Given the description of an element on the screen output the (x, y) to click on. 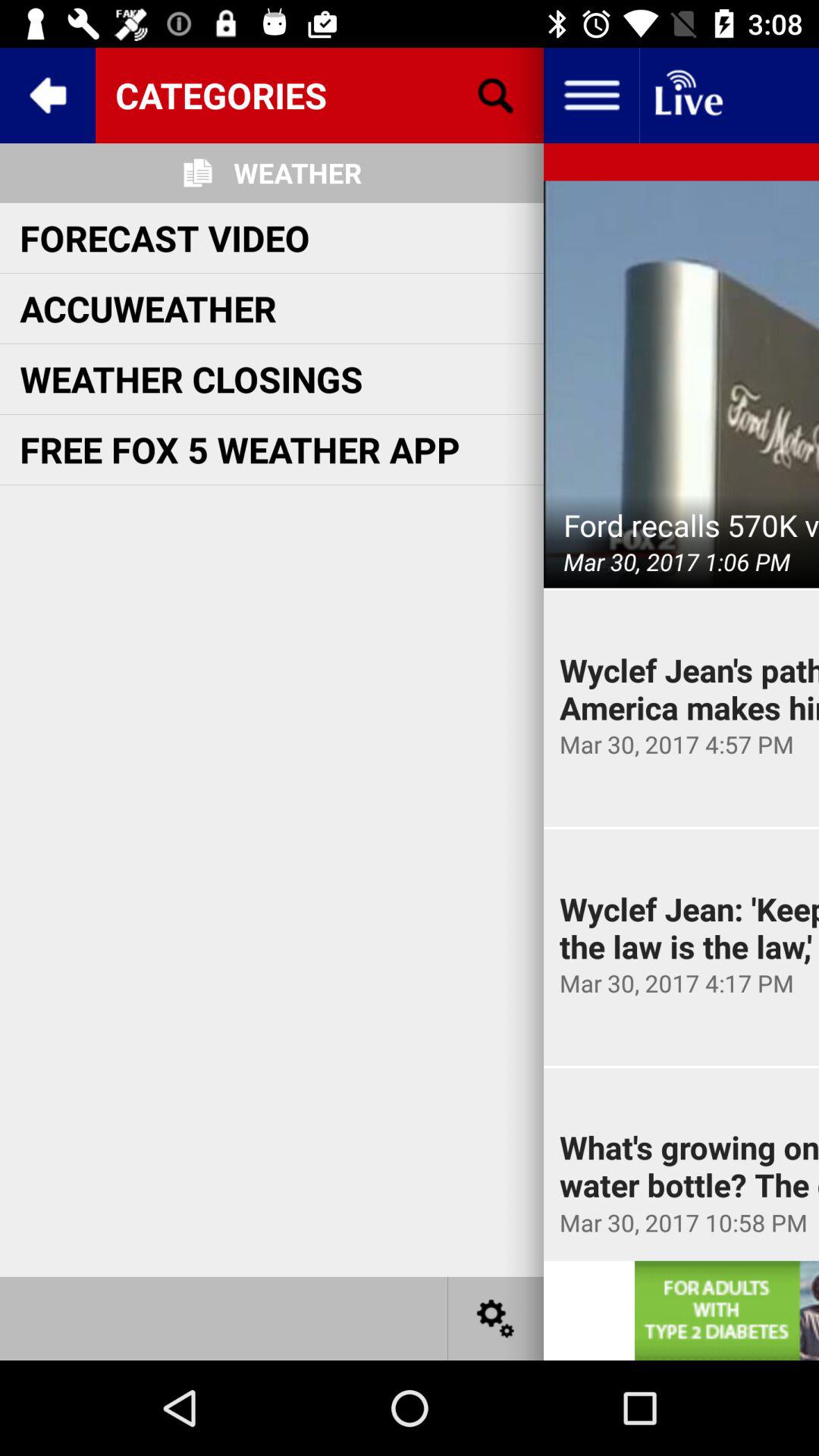
search (495, 95)
